Given the description of an element on the screen output the (x, y) to click on. 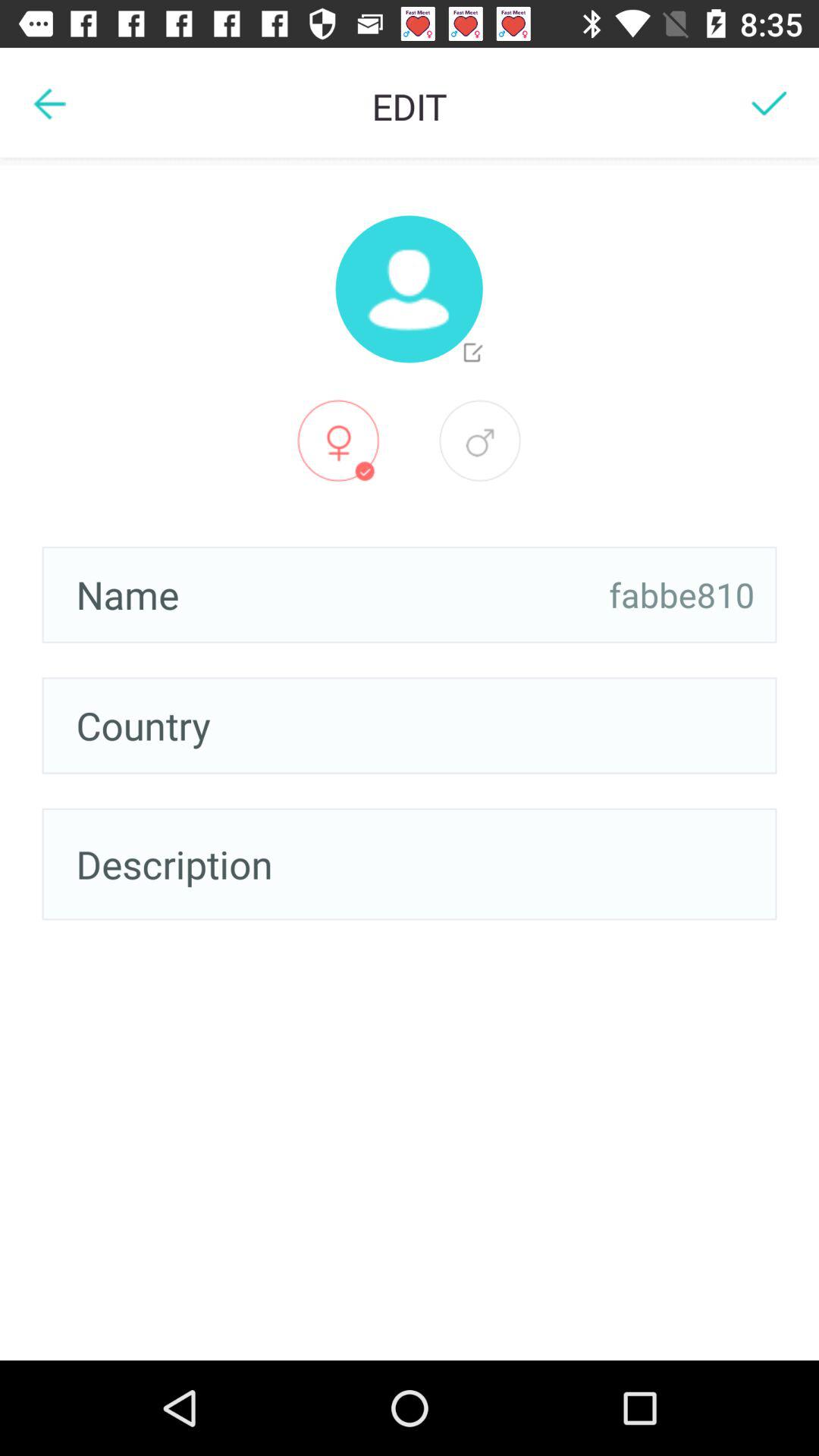
a selection box to select female as a gender (338, 440)
